Given the description of an element on the screen output the (x, y) to click on. 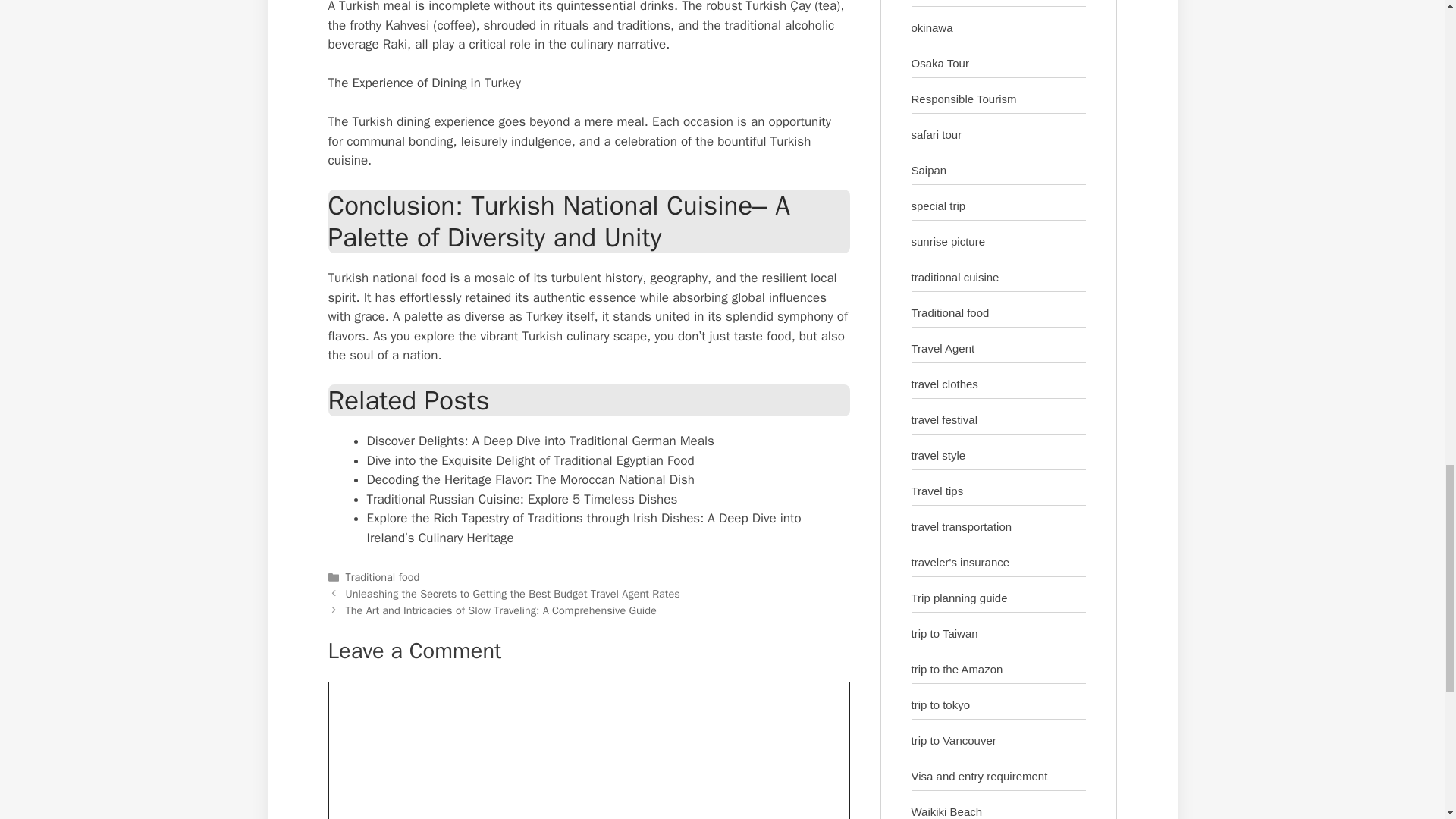
Traditional Russian Cuisine: Explore 5 Timeless Dishes (522, 498)
Dive into the Exquisite Delight of Traditional Egyptian Food (530, 460)
Discover Delights: A Deep Dive into Traditional German Meals (540, 440)
Traditional food (383, 576)
Decoding the Heritage Flavor: The Moroccan National Dish (530, 479)
